Given the description of an element on the screen output the (x, y) to click on. 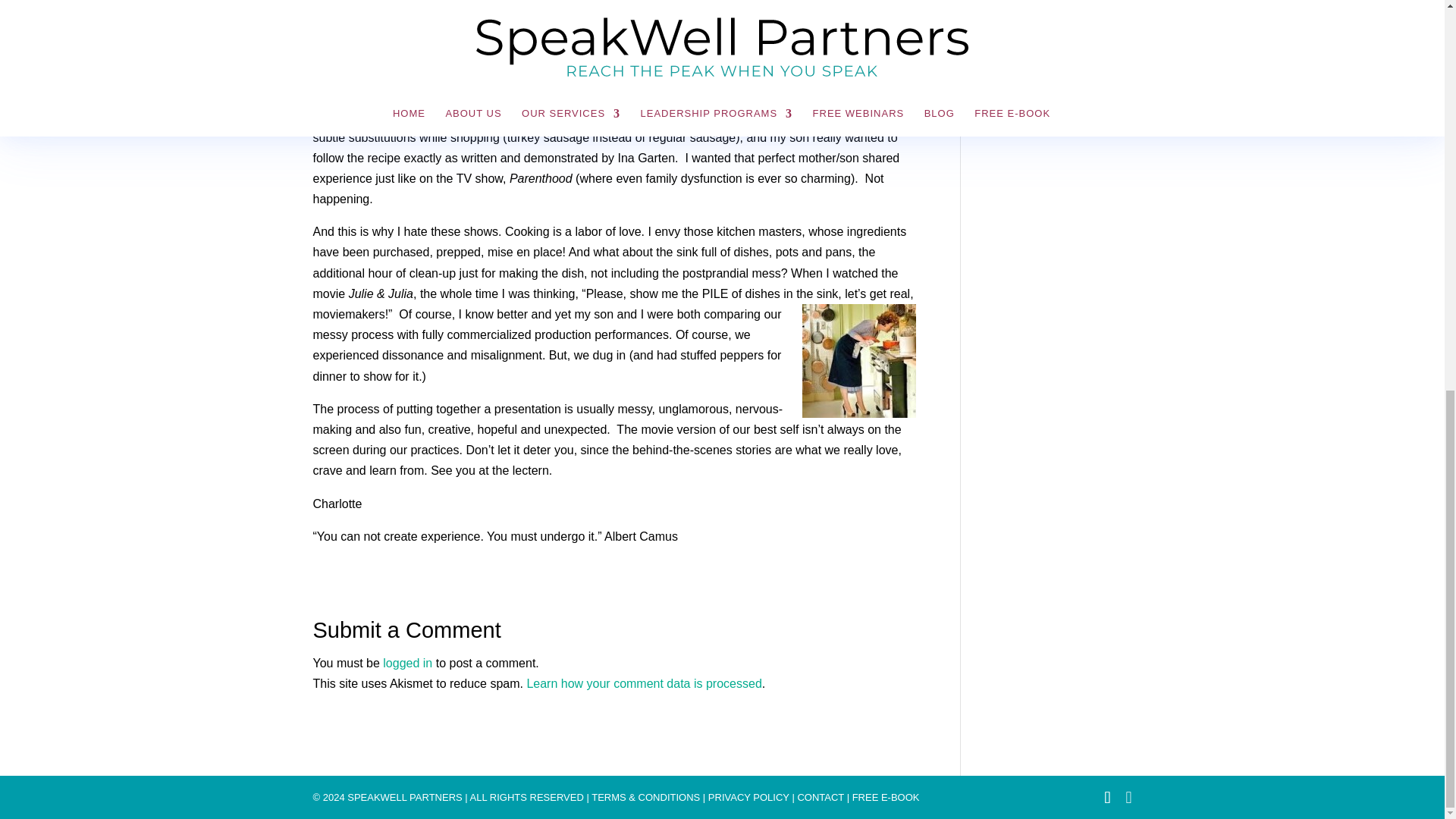
CONTACT (820, 797)
Learn how your comment data is processed (643, 683)
PRIVACY POLICY (748, 797)
Unknown-2 (858, 360)
Ina Garten, Barefoot Contessa (369, 52)
logged in (407, 662)
FREE E-BOOK (885, 797)
